Given the description of an element on the screen output the (x, y) to click on. 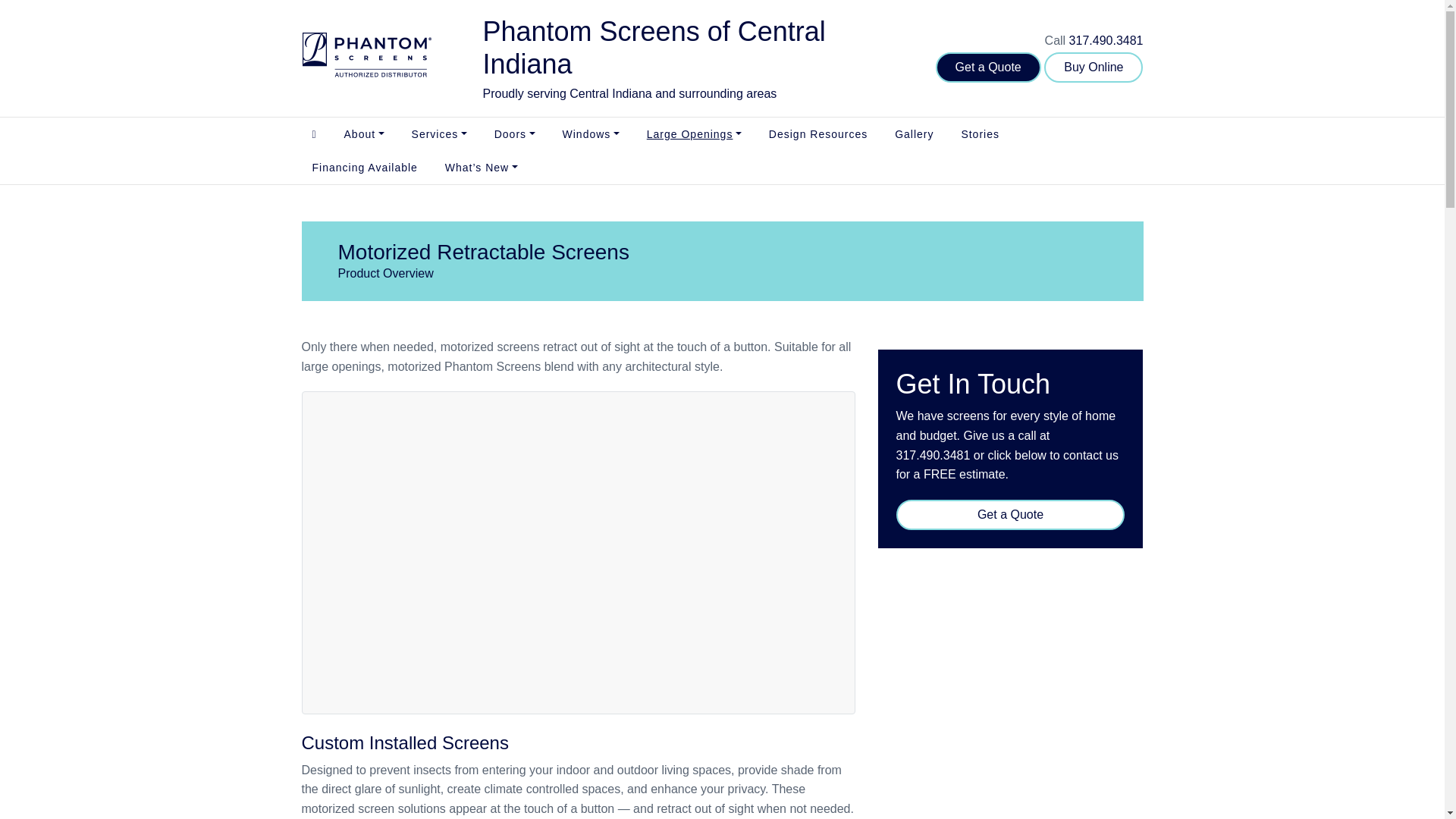
317.490.3481 (1105, 40)
Large Openings (694, 133)
Doors (514, 133)
About (363, 133)
Phantom Screens (365, 58)
Buy Online (1092, 67)
Windows (590, 133)
Get a Quote (988, 67)
About (363, 133)
Services (438, 133)
